Given the description of an element on the screen output the (x, y) to click on. 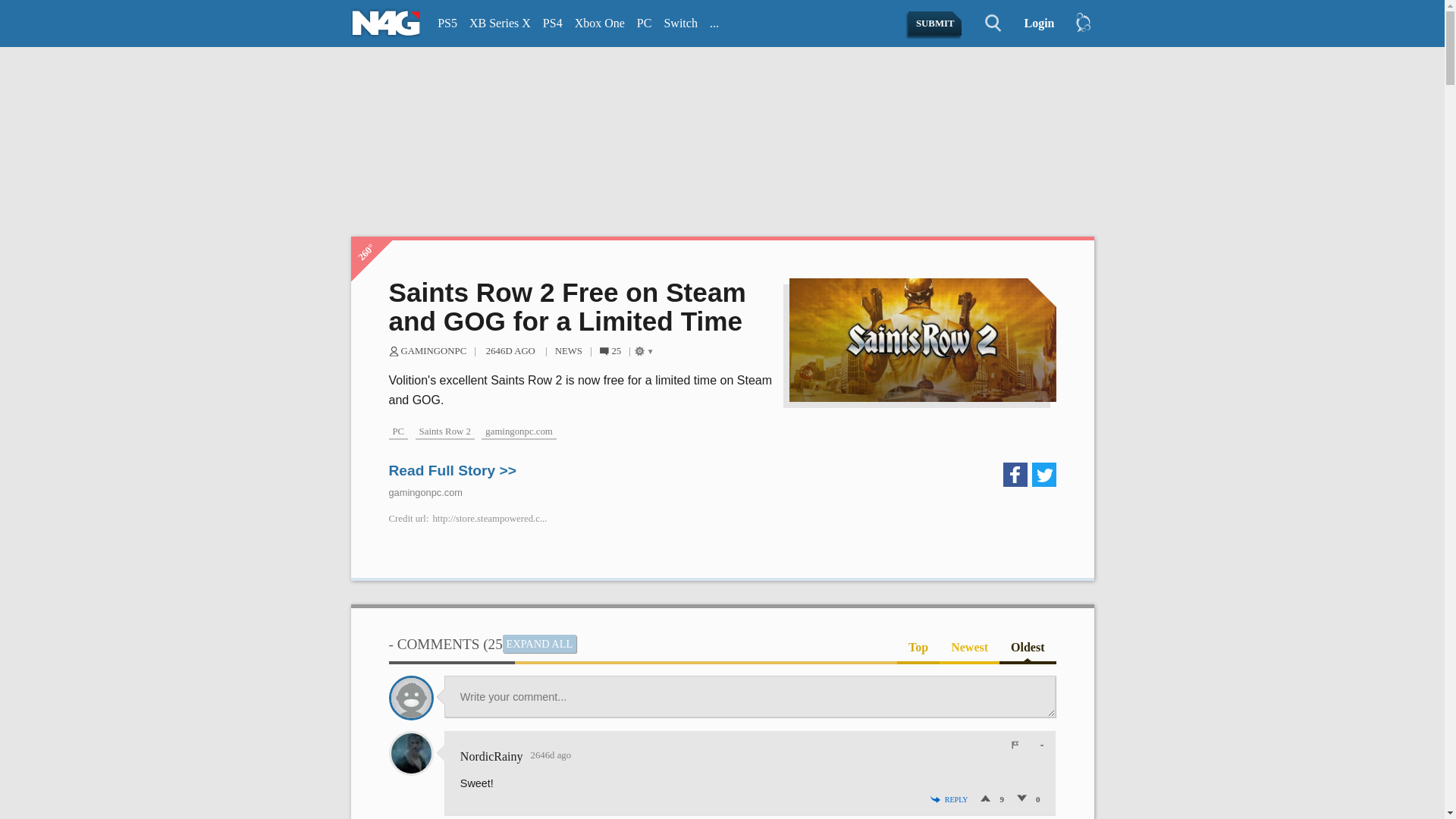
PS5 (446, 24)
PS4 (553, 24)
Login (1033, 23)
Switch (680, 24)
Search (984, 23)
Xbox One (599, 24)
XB Series X (500, 24)
SUBMIT (935, 23)
PC (644, 24)
